Given the description of an element on the screen output the (x, y) to click on. 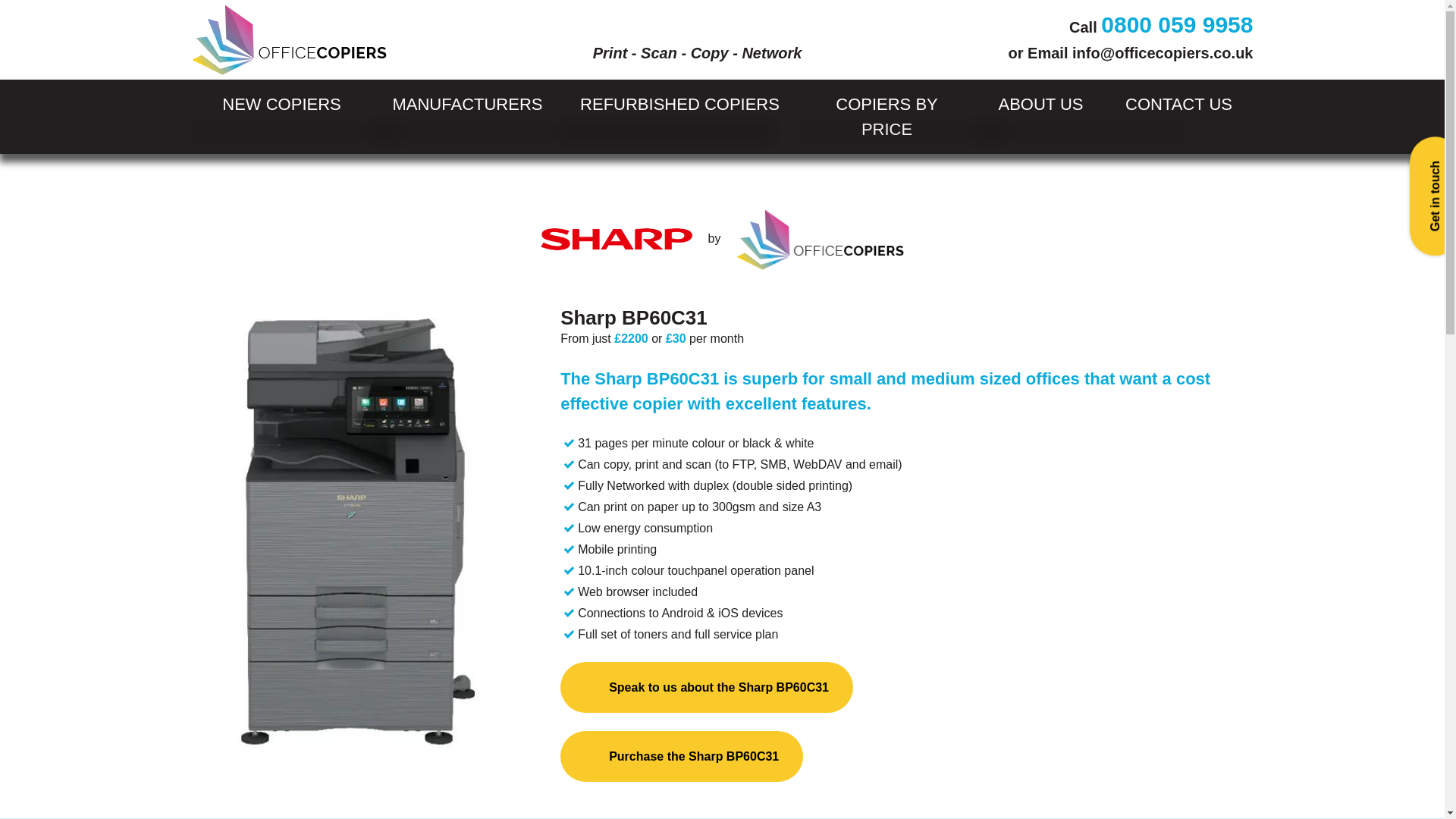
0800 059 9958 (1176, 24)
